Given the description of an element on the screen output the (x, y) to click on. 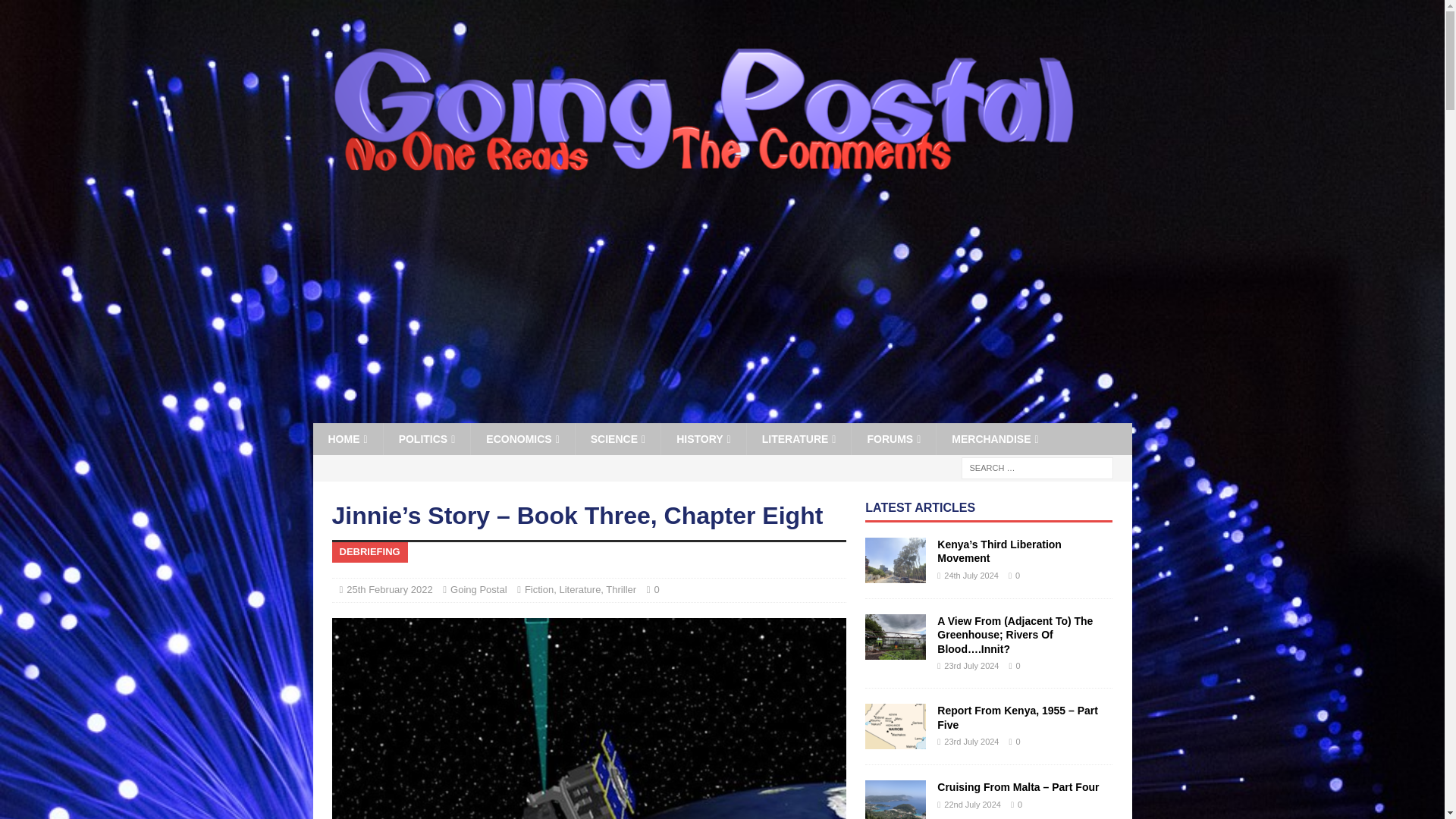
Going Postal (703, 191)
